Given the description of an element on the screen output the (x, y) to click on. 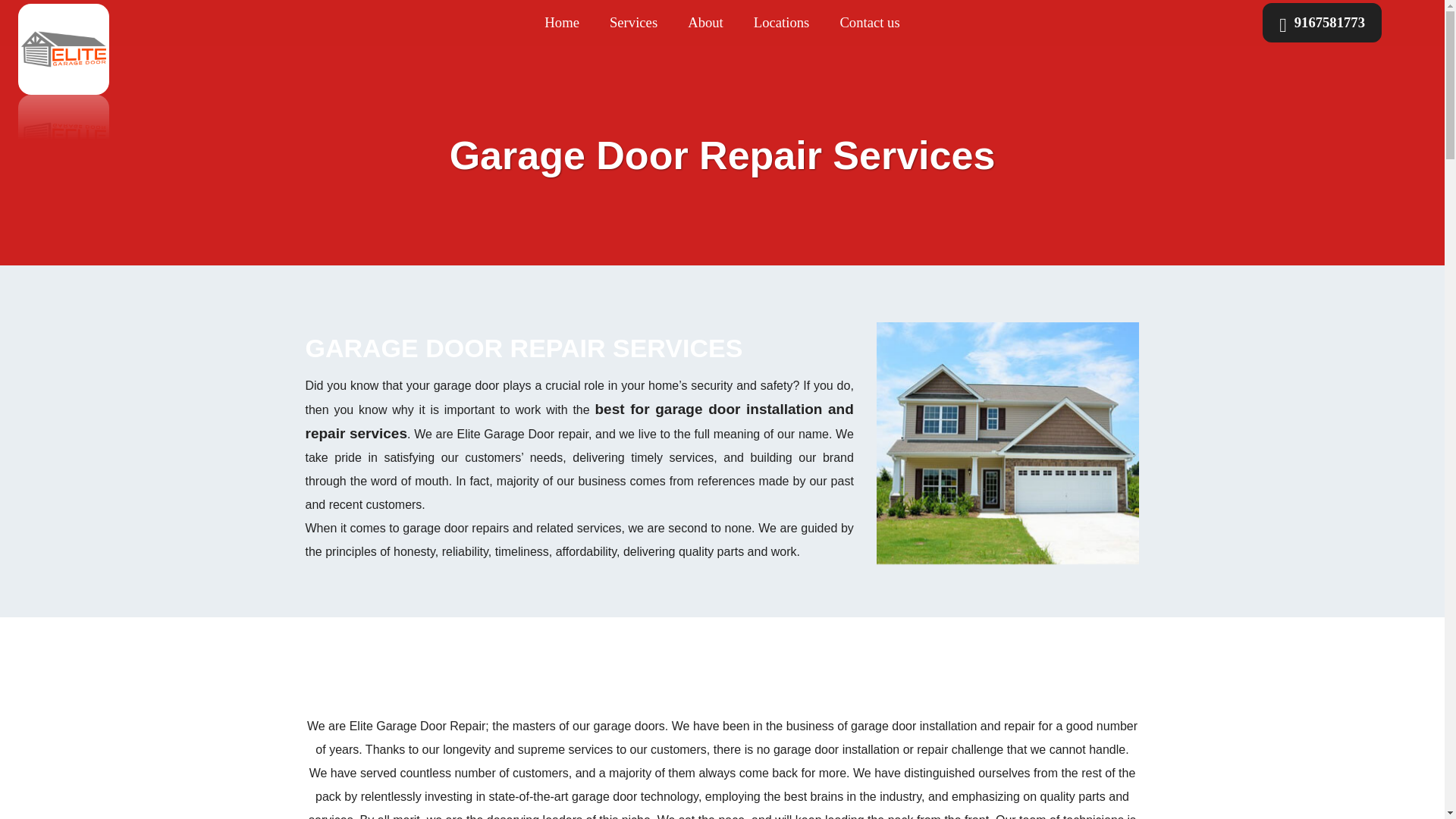
Services (633, 22)
Home (561, 22)
About (705, 22)
9167581773 (1321, 22)
Contact us (869, 22)
best for garage door installation and repair services (578, 421)
Locations (781, 22)
